Given the description of an element on the screen output the (x, y) to click on. 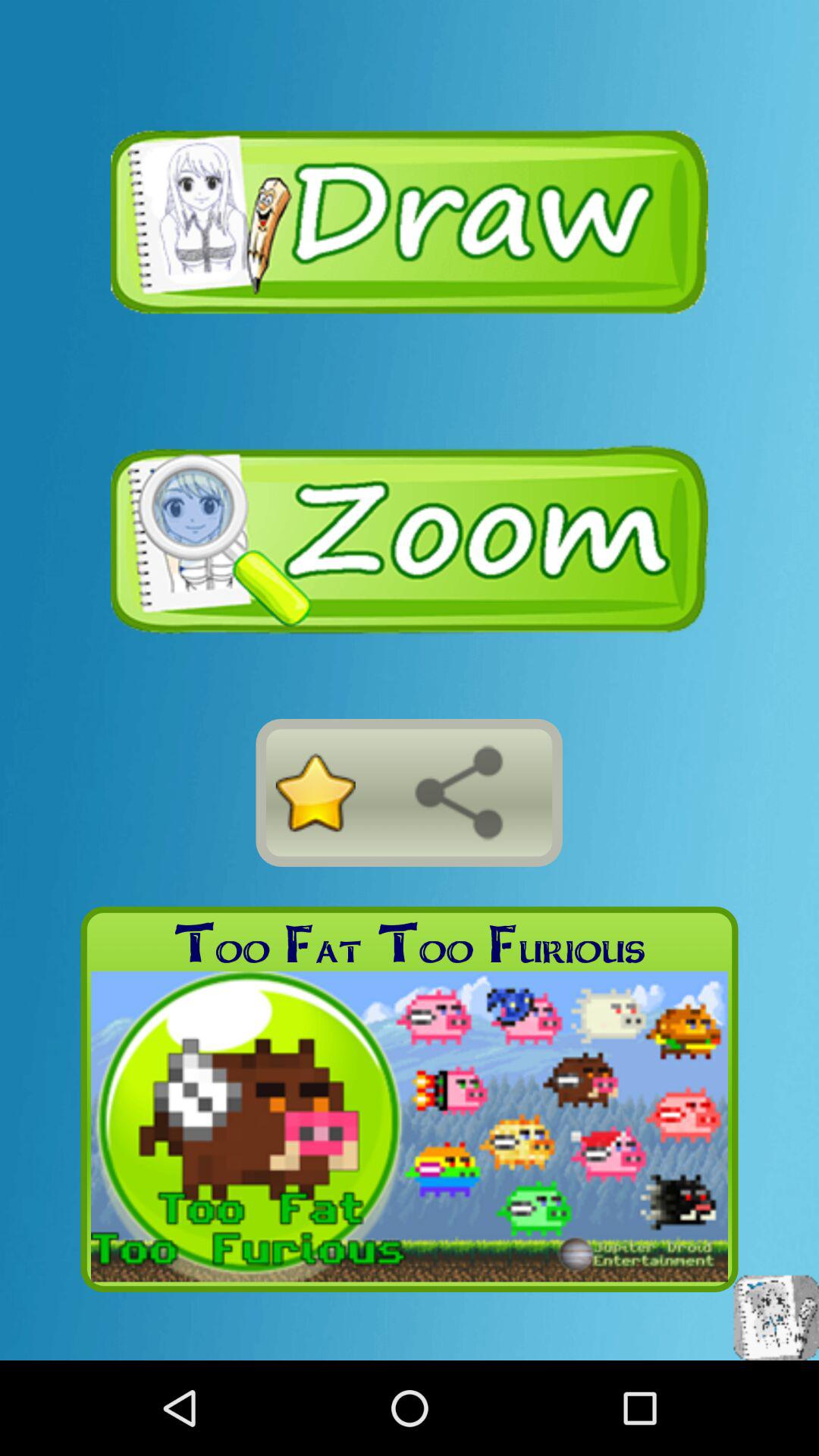
search (458, 792)
